Given the description of an element on the screen output the (x, y) to click on. 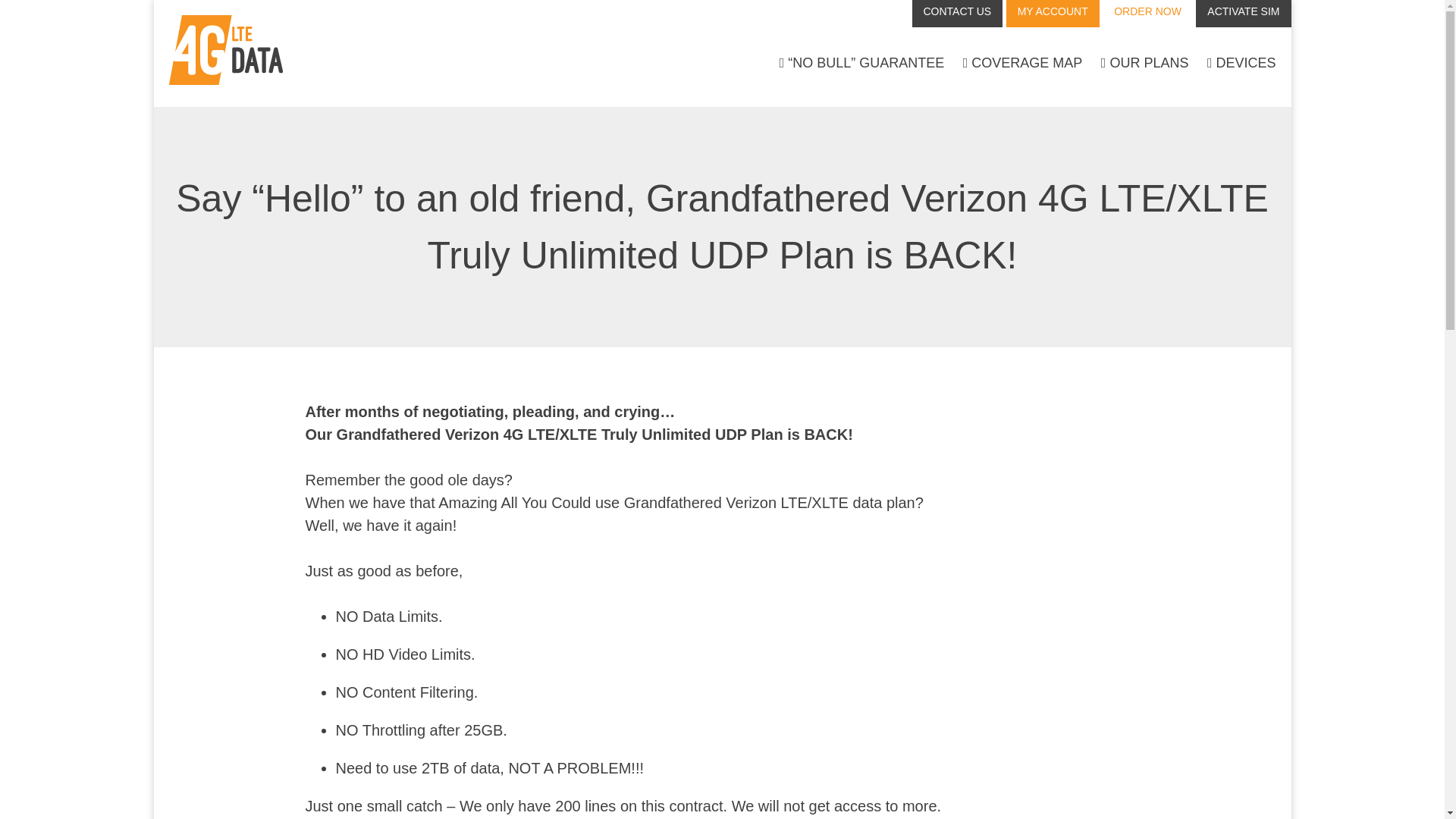
OUR PLANS (1144, 63)
CONTACT US (957, 13)
ACTIVATE SIM (1242, 13)
ORDER NOW (1147, 13)
MY ACCOUNT (1052, 13)
DEVICES (1241, 63)
COVERAGE MAP (1022, 63)
